Given the description of an element on the screen output the (x, y) to click on. 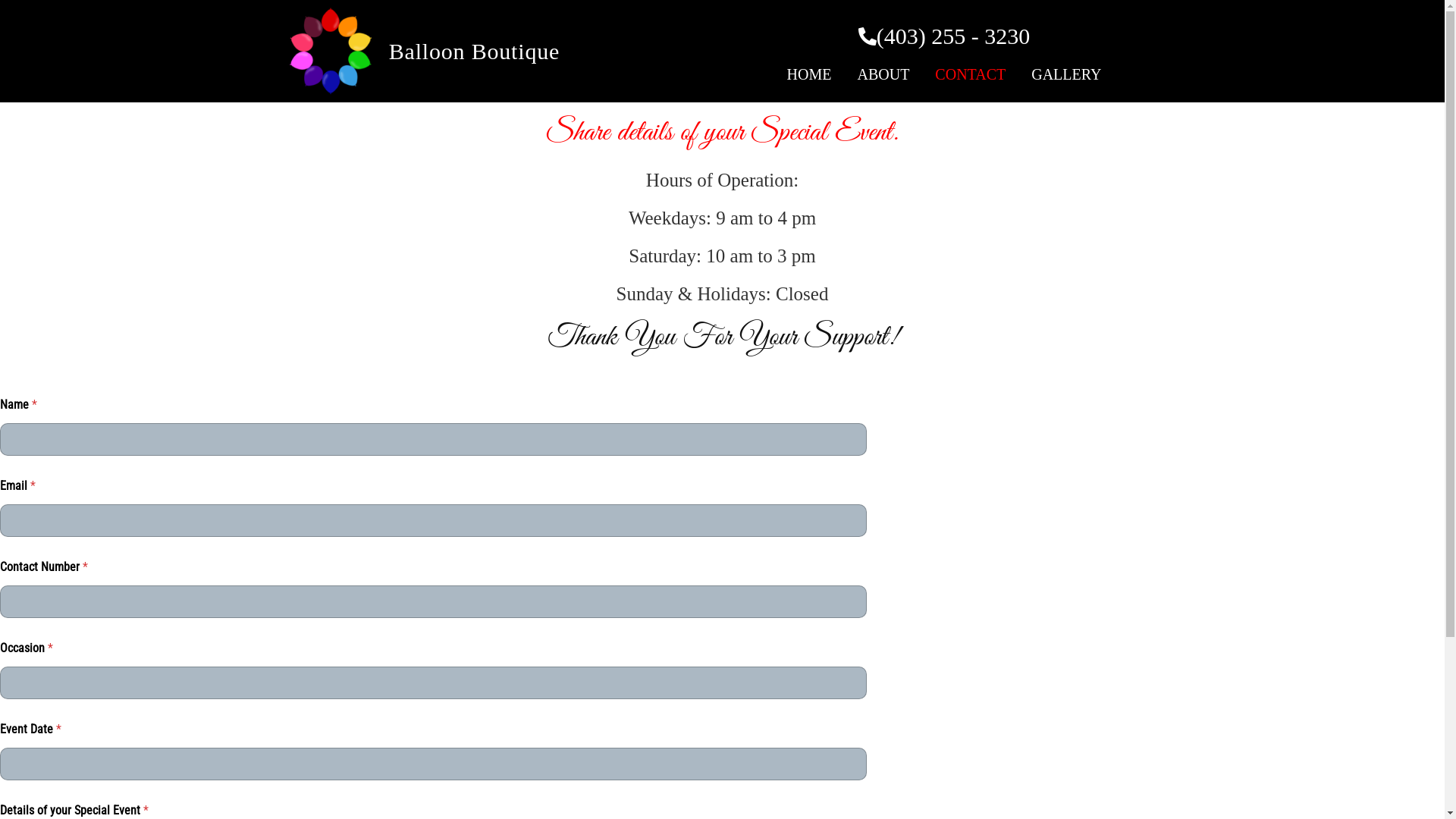
CONTACT Element type: text (969, 74)
GALLERY Element type: text (1065, 74)
cropped-BalloonsCanadaCircle.png Element type: hover (329, 50)
HOME Element type: text (809, 74)
ABOUT Element type: text (882, 74)
